Given the description of an element on the screen output the (x, y) to click on. 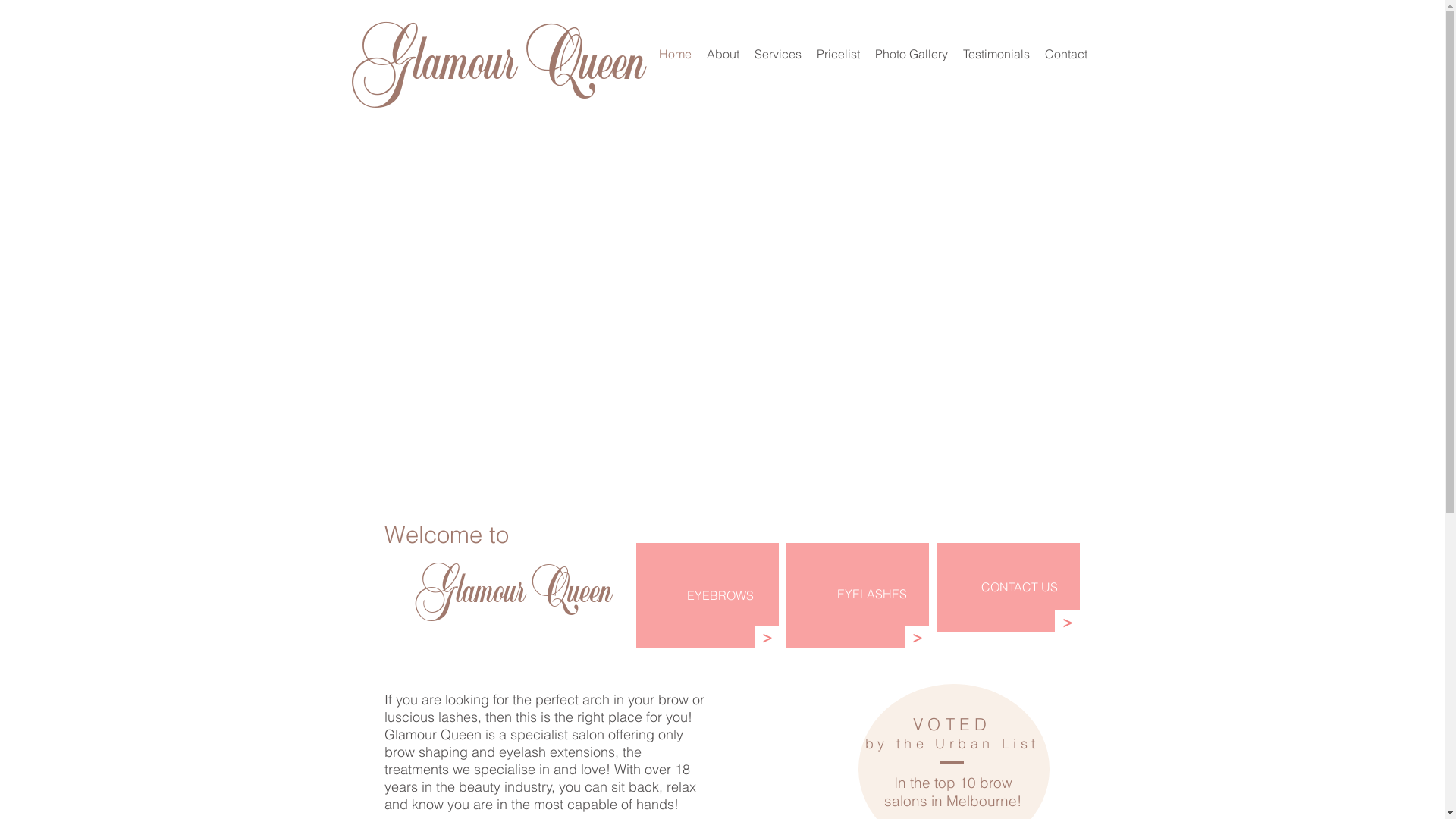
> Element type: text (915, 636)
> Element type: text (765, 636)
EYEBROWS Element type: text (720, 594)
EYELASHES Element type: text (871, 593)
Testimonials Element type: text (996, 53)
Glamour Queen Element type: text (495, 49)
Pricelist Element type: text (837, 53)
Photo Gallery Element type: text (911, 53)
Contact Element type: text (1066, 53)
Services Element type: text (777, 53)
> Element type: text (1066, 621)
Home Element type: text (674, 53)
About Element type: text (722, 53)
CONTACT US Element type: text (1019, 586)
